Given the description of an element on the screen output the (x, y) to click on. 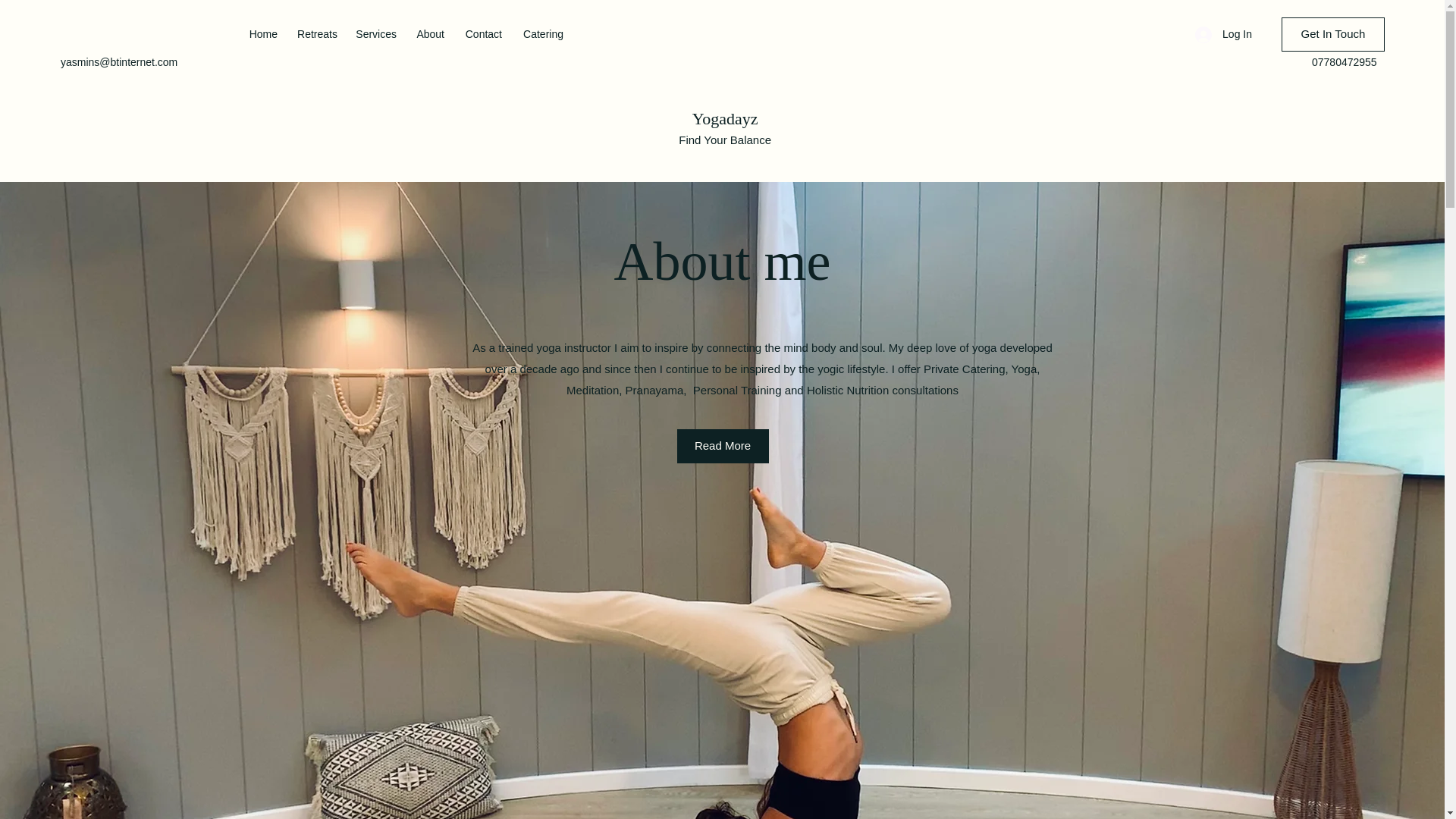
Contact (480, 33)
Retreats (315, 33)
Yogadayz (725, 117)
Catering (539, 33)
Home (261, 33)
Services (374, 33)
About (427, 33)
Log In (1223, 34)
